Given the description of an element on the screen output the (x, y) to click on. 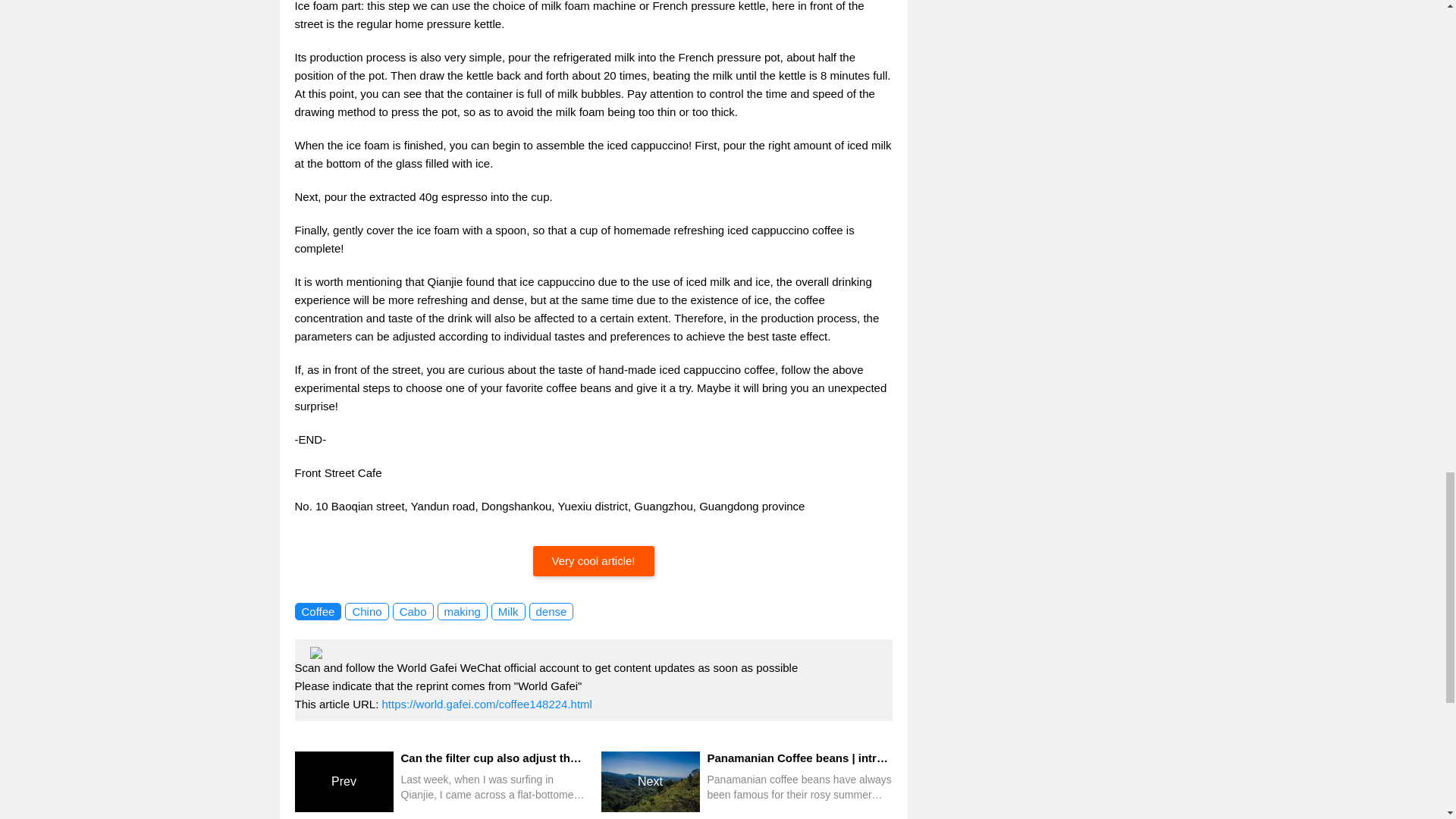
Chino (366, 610)
dense (551, 610)
Milk (508, 610)
Coffee (317, 610)
Very cool article! (592, 560)
Cabo (413, 610)
making (461, 610)
